Given the description of an element on the screen output the (x, y) to click on. 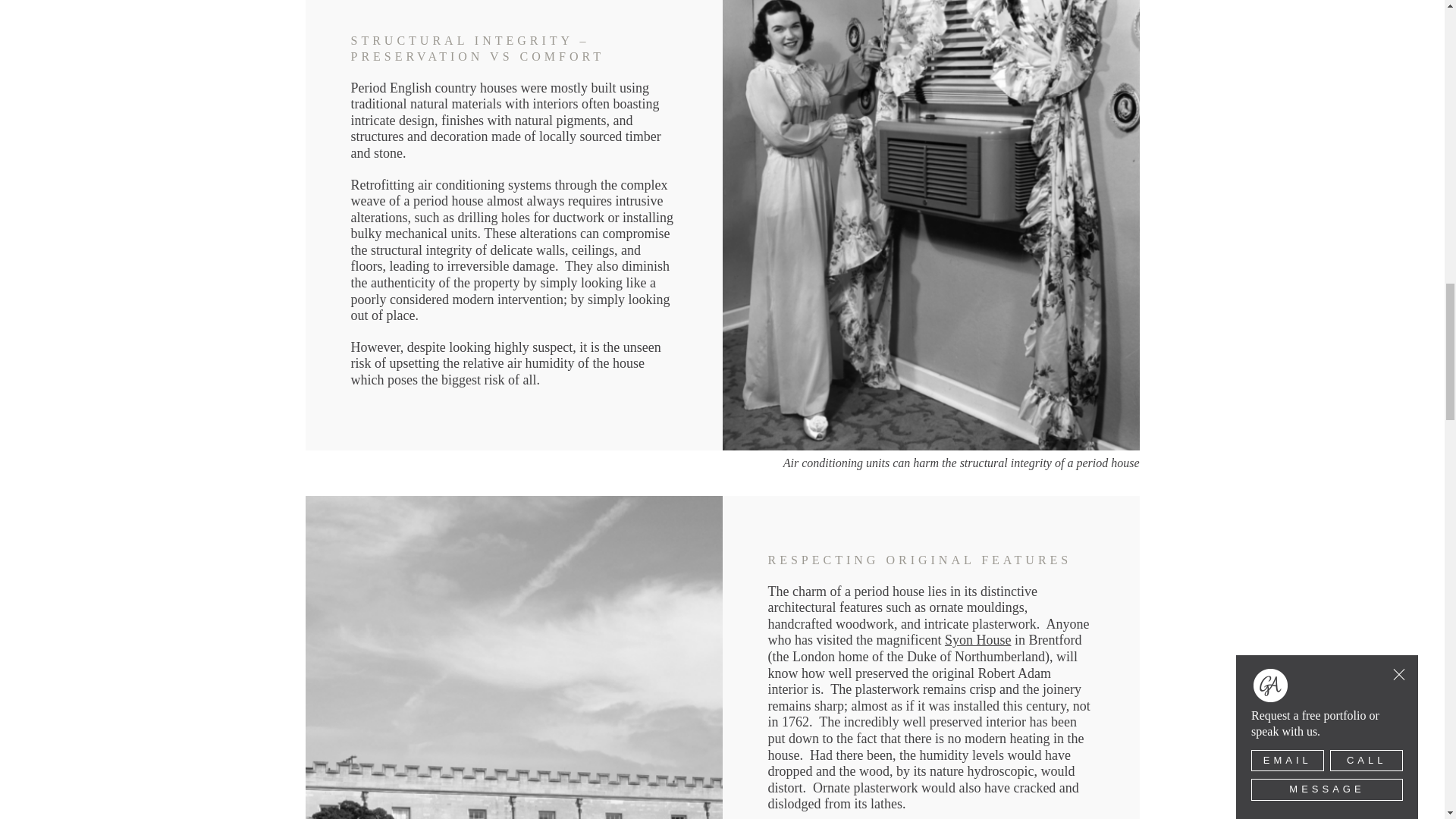
Syon House (977, 639)
